Given the description of an element on the screen output the (x, y) to click on. 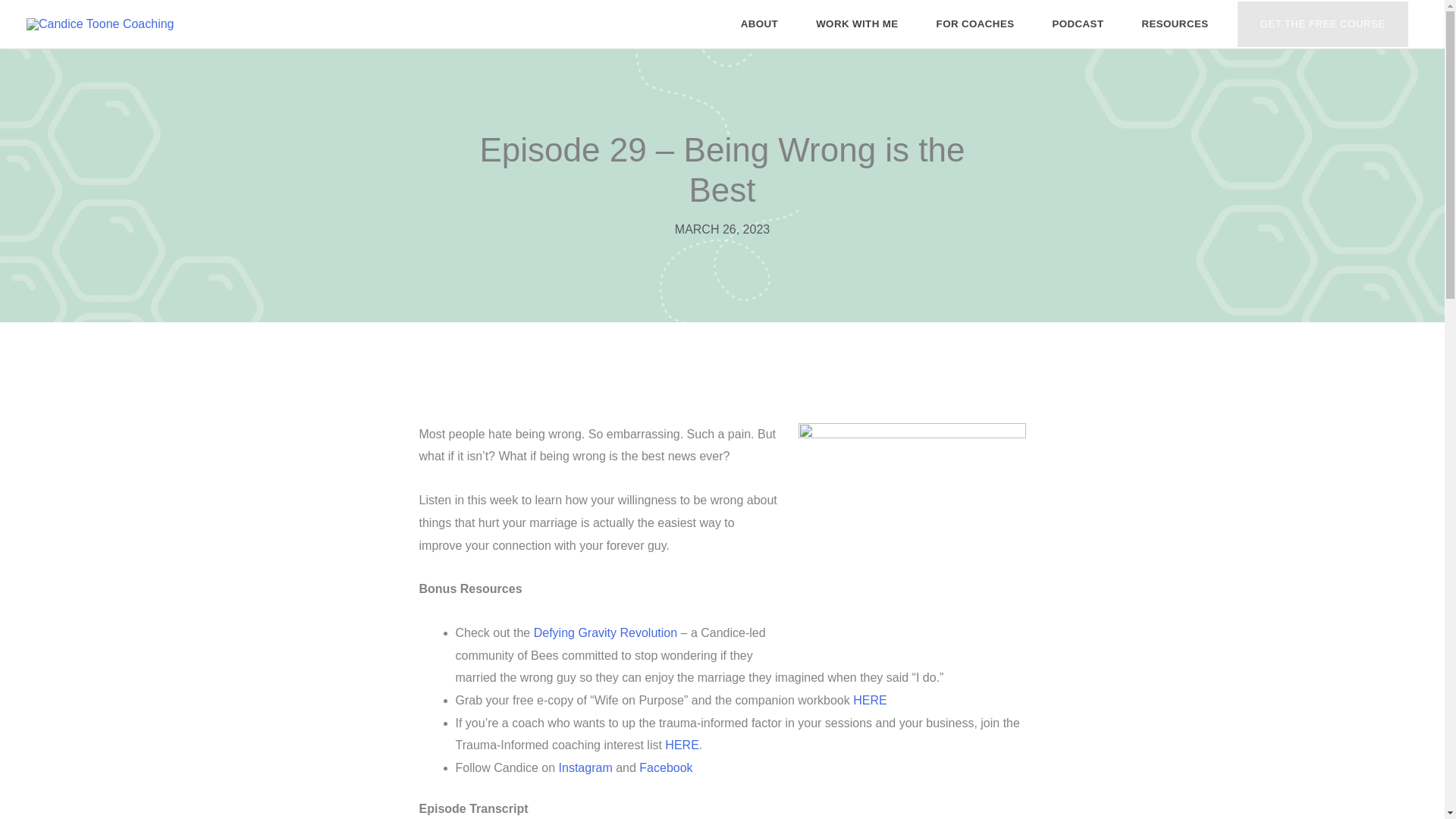
FOR COACHES (975, 24)
Defying Gravity Revolution (603, 632)
Facebook (664, 767)
Instagram (583, 767)
PODCAST (1077, 24)
GET THE FREE COURSE (1322, 24)
HERE (680, 744)
WORK WITH ME (856, 24)
RESOURCES (1174, 24)
ABOUT (759, 24)
HERE (869, 699)
